Given the description of an element on the screen output the (x, y) to click on. 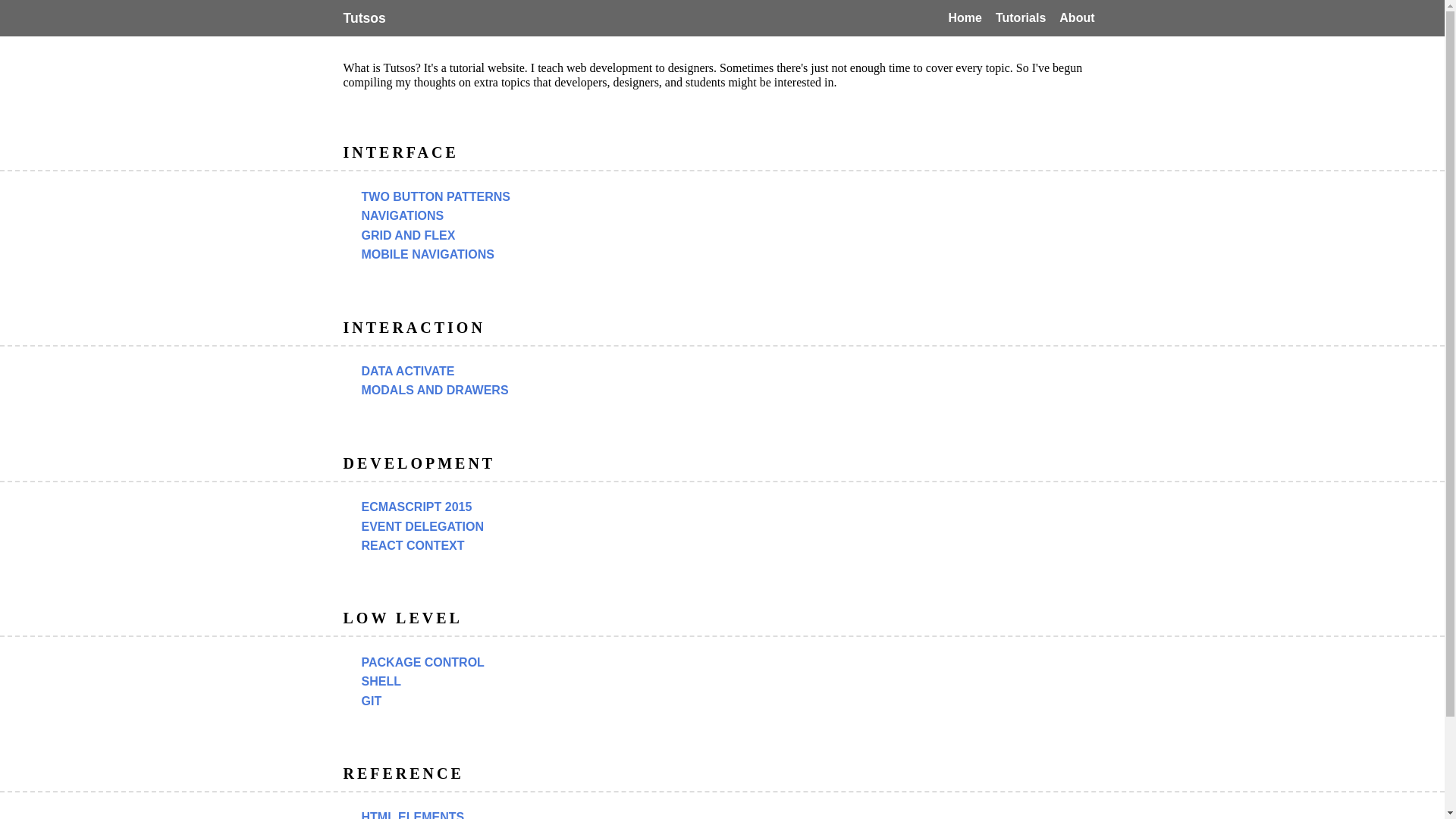
TWO BUTTON PATTERNS (435, 196)
GIT (371, 701)
About (1076, 18)
DATA ACTIVATE (407, 371)
ECMASCRIPT 2015 (416, 506)
SHELL (380, 681)
EVENT DELEGATION (422, 526)
Home (964, 18)
GRID AND FLEX (408, 235)
REACT CONTEXT (412, 546)
